Given the description of an element on the screen output the (x, y) to click on. 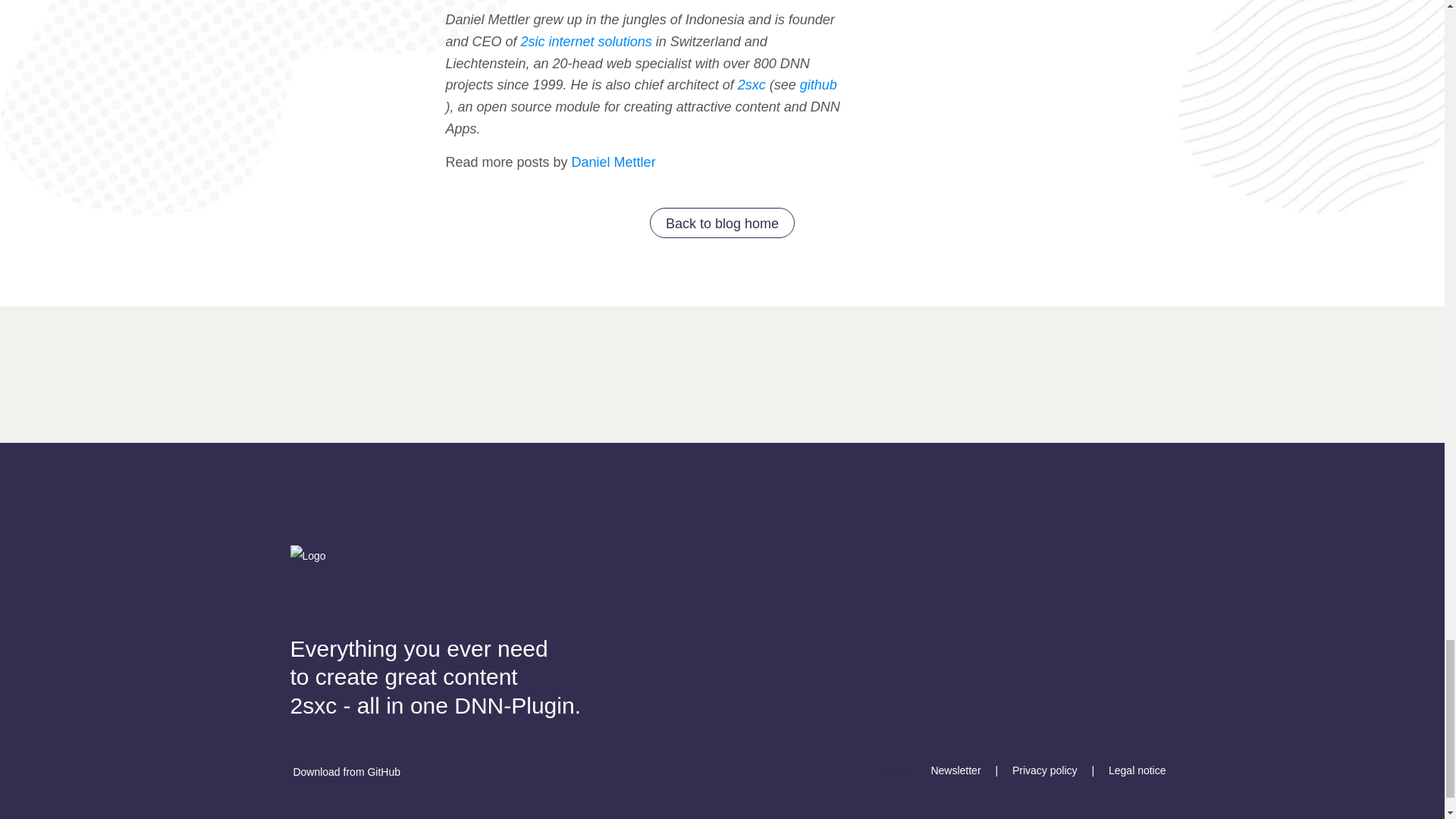
Back to blog home (721, 223)
Download from GitHub (344, 769)
Login (895, 771)
2sxc (751, 84)
2sic internet solutions (586, 41)
Home (721, 223)
github (995, 95)
Legal notice (1137, 770)
Newsletter (954, 770)
Daniel Mettler (614, 161)
